Given the description of an element on the screen output the (x, y) to click on. 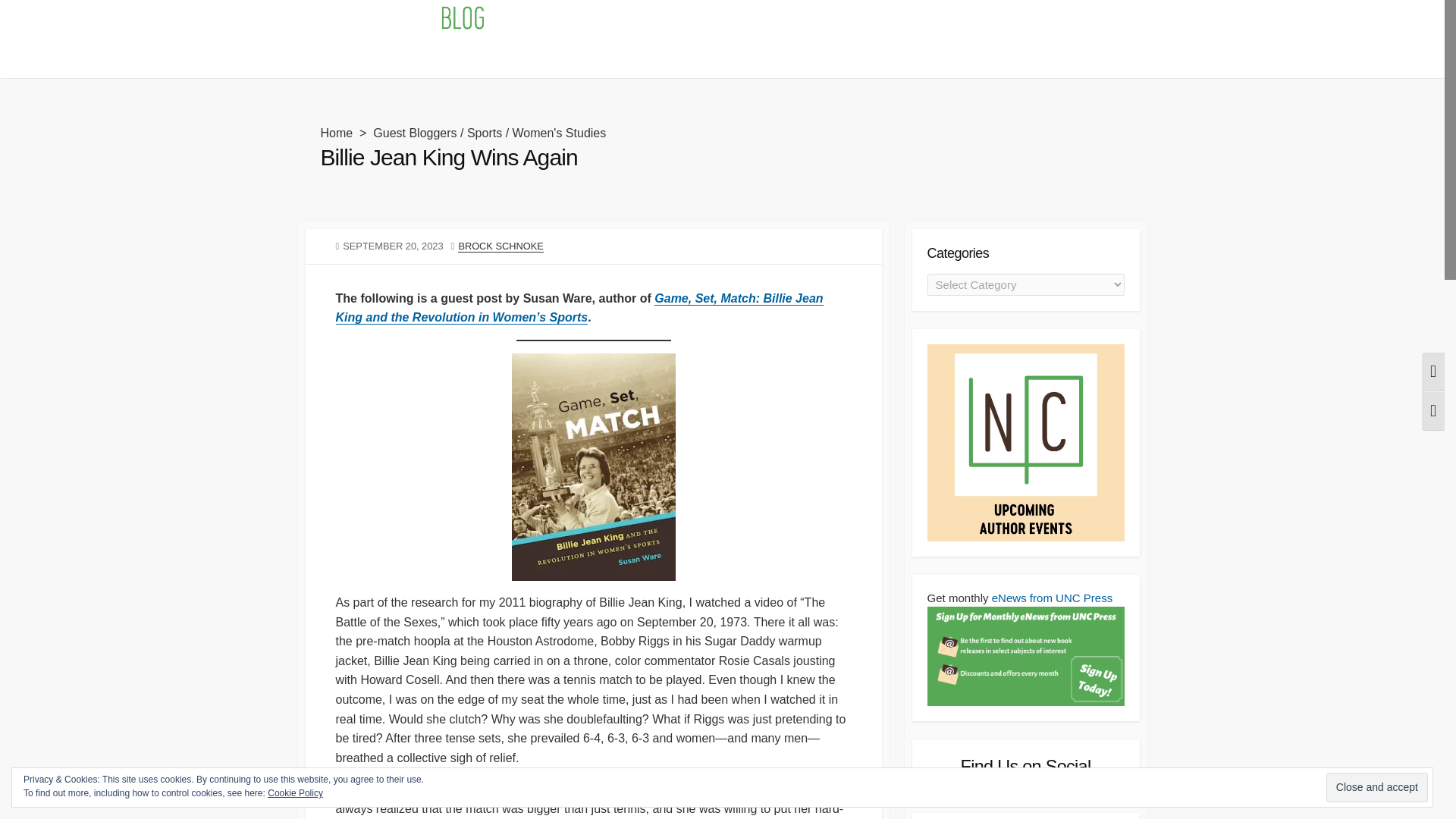
Sports (484, 132)
Upcoming Author Events (547, 58)
UNC Press Home (424, 58)
Close and accept (1377, 787)
UNC Press Blog (399, 20)
Home (336, 132)
Award Winners (665, 58)
Women's Studies (559, 132)
Posts by Brock Schnoke (500, 245)
Blog Home (334, 58)
BROCK SCHNOKE (500, 245)
Guest Bloggers (414, 132)
